Given the description of an element on the screen output the (x, y) to click on. 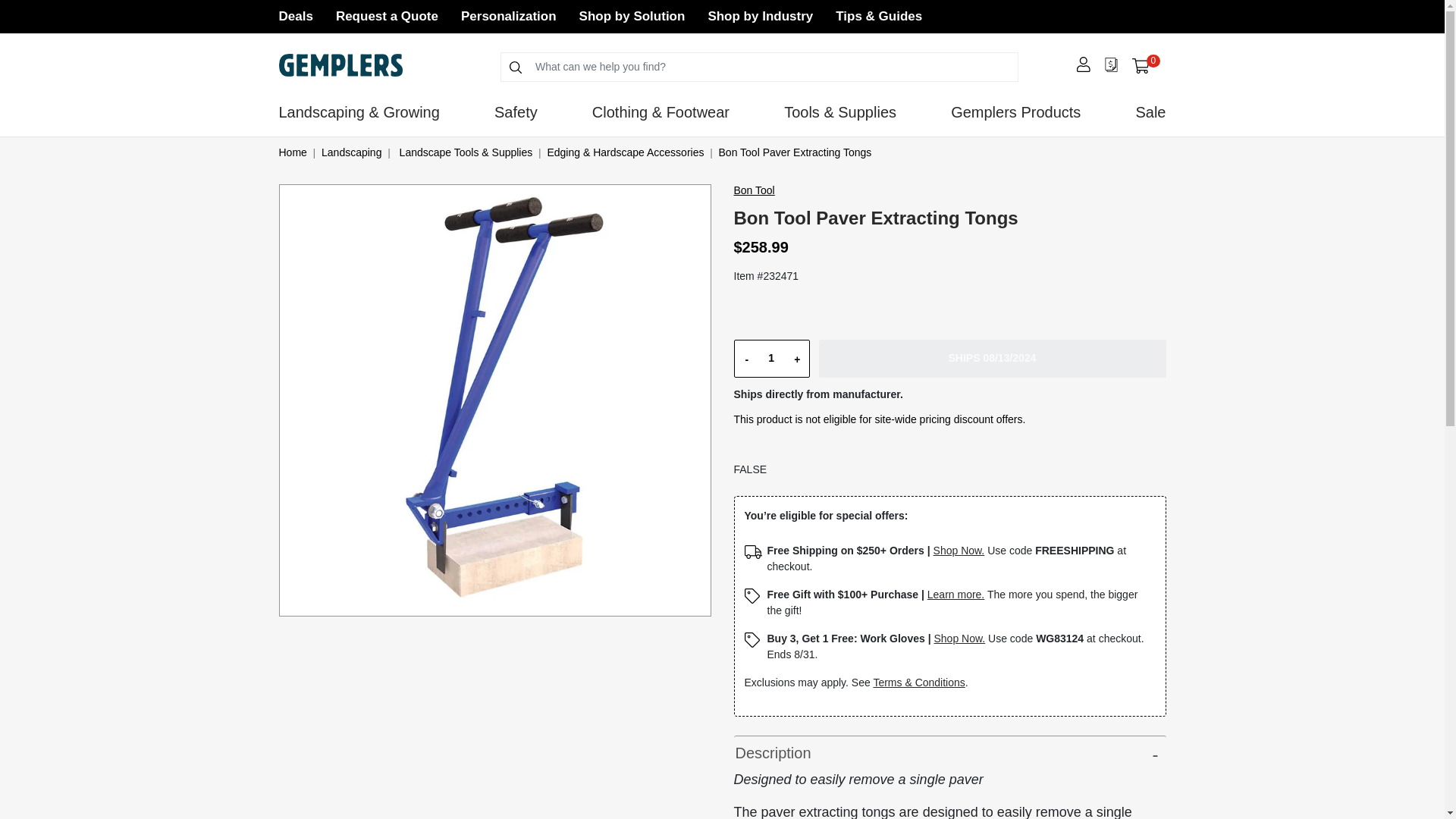
1 (770, 357)
Shopping Cart (1141, 66)
Personalization (1145, 65)
Deals (508, 16)
Request a Quote (296, 16)
Shop by Solution (387, 16)
Shop by Industry (632, 16)
